Given the description of an element on the screen output the (x, y) to click on. 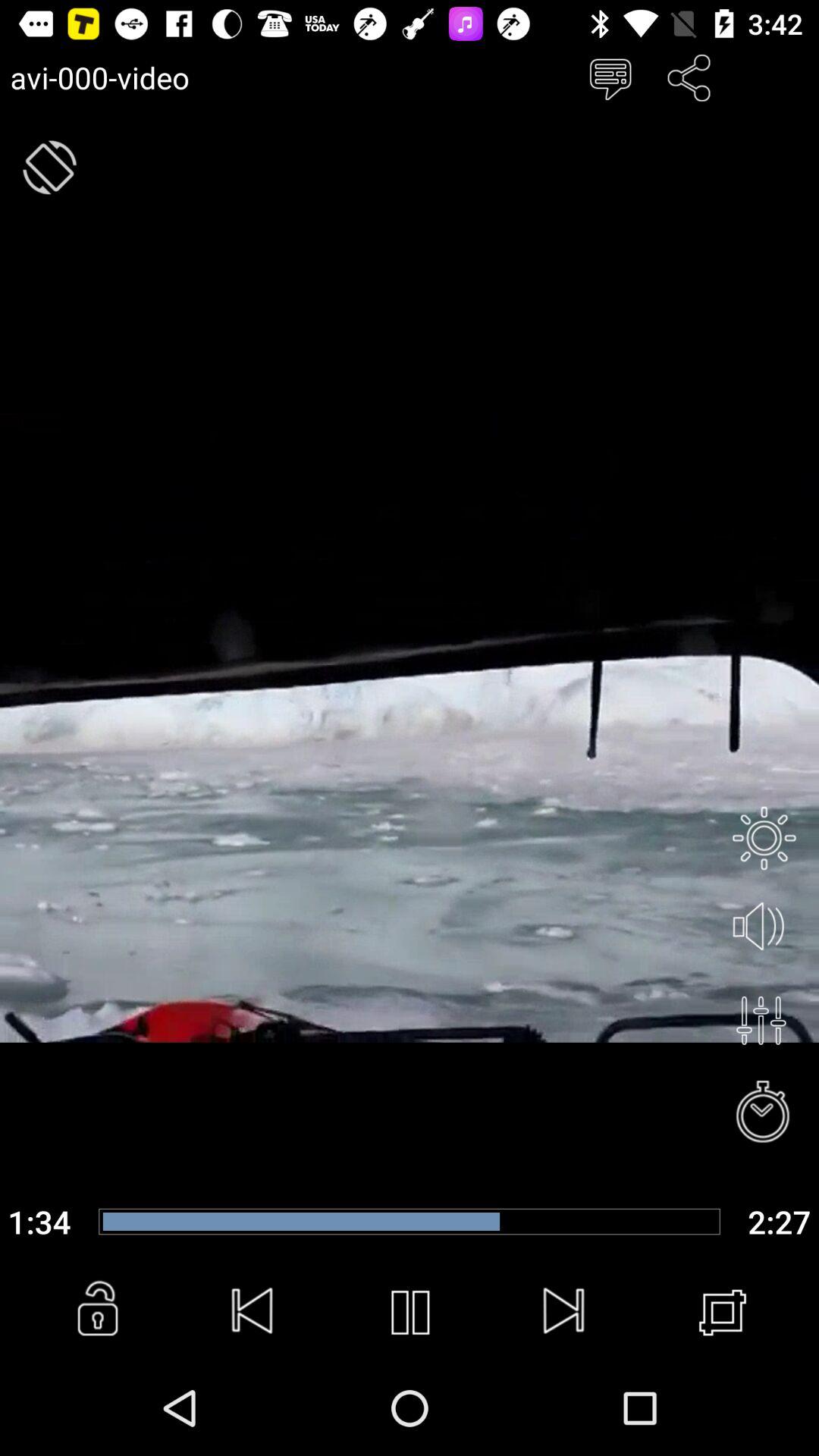
pause video (409, 1312)
